Given the description of an element on the screen output the (x, y) to click on. 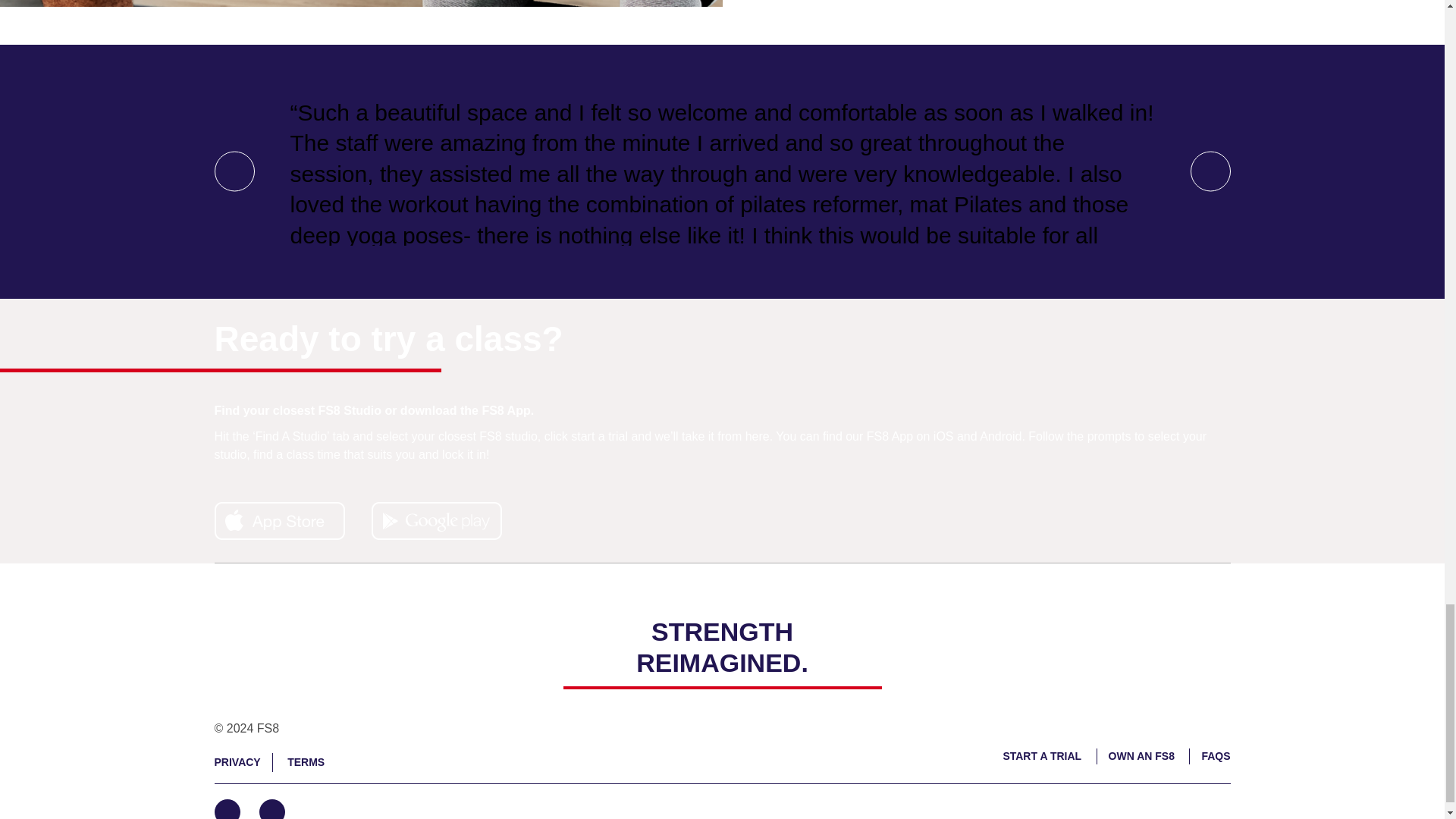
Next (1210, 171)
START A TRIAL (1042, 756)
PRIVACY (237, 761)
Previous (233, 171)
OWN AN FS8 (1141, 756)
FAQS (1215, 756)
TERMS (305, 761)
